Given the description of an element on the screen output the (x, y) to click on. 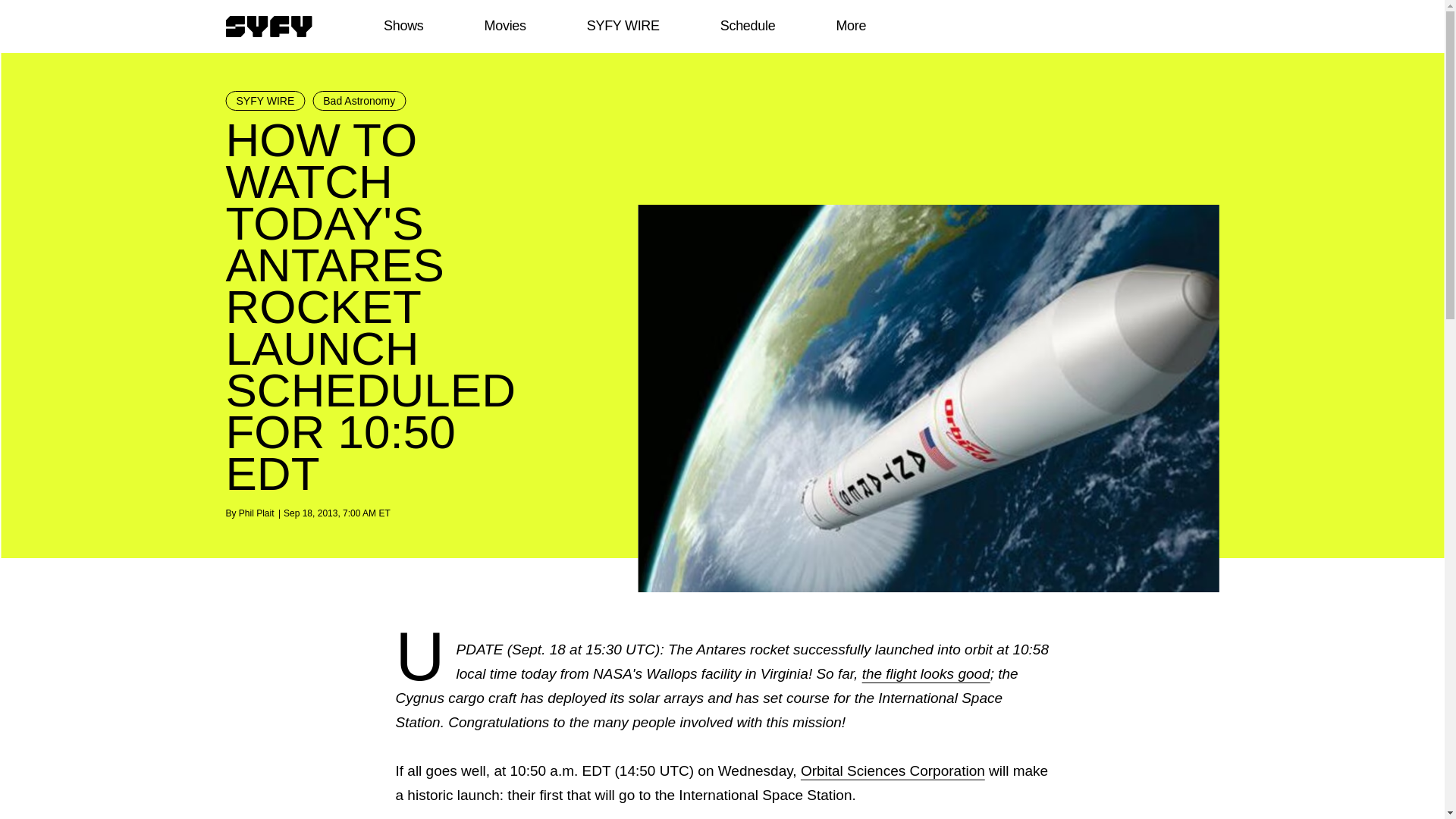
Movies (504, 26)
Shows (403, 26)
the flight looks good (925, 673)
SYFY WIRE (622, 26)
Schedule (746, 26)
Bad Astronomy (359, 100)
Orbital Sciences Corporation (892, 770)
Phil Plait (256, 512)
More (850, 26)
